Given the description of an element on the screen output the (x, y) to click on. 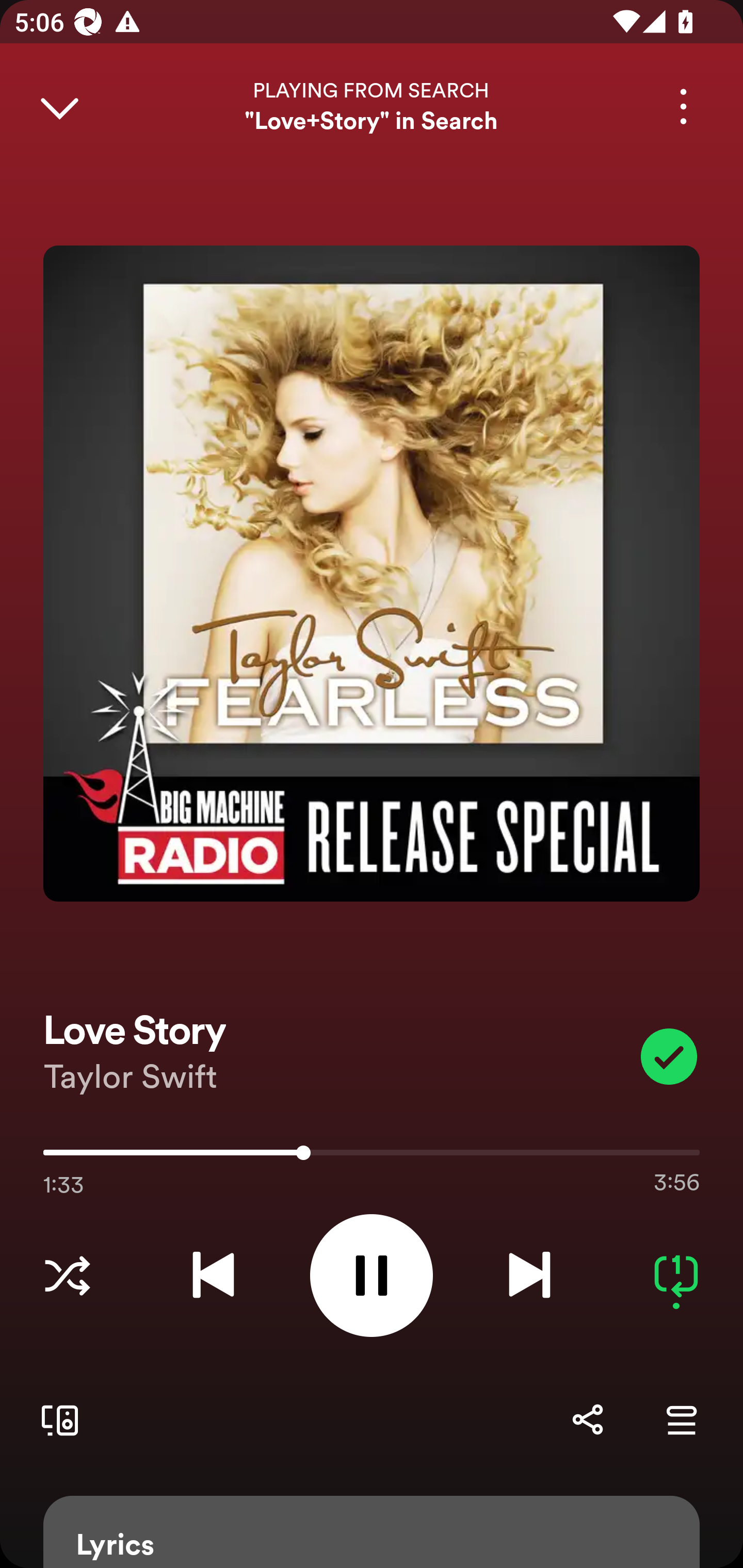
Close (59, 106)
More options for song Love Story (683, 106)
PLAYING FROM SEARCH "Love+Story" in Search (371, 106)
Item added (669, 1056)
1:33 3:56 93614.0 Use volume keys to adjust (371, 1157)
Pause (371, 1275)
Previous (212, 1275)
Next (529, 1275)
Choose a Listening Mode (66, 1275)
Repeat (676, 1275)
Share (587, 1419)
Go to Queue (681, 1419)
Connect to a device. Opens the devices menu (55, 1419)
Lyrics (371, 1531)
